Given the description of an element on the screen output the (x, y) to click on. 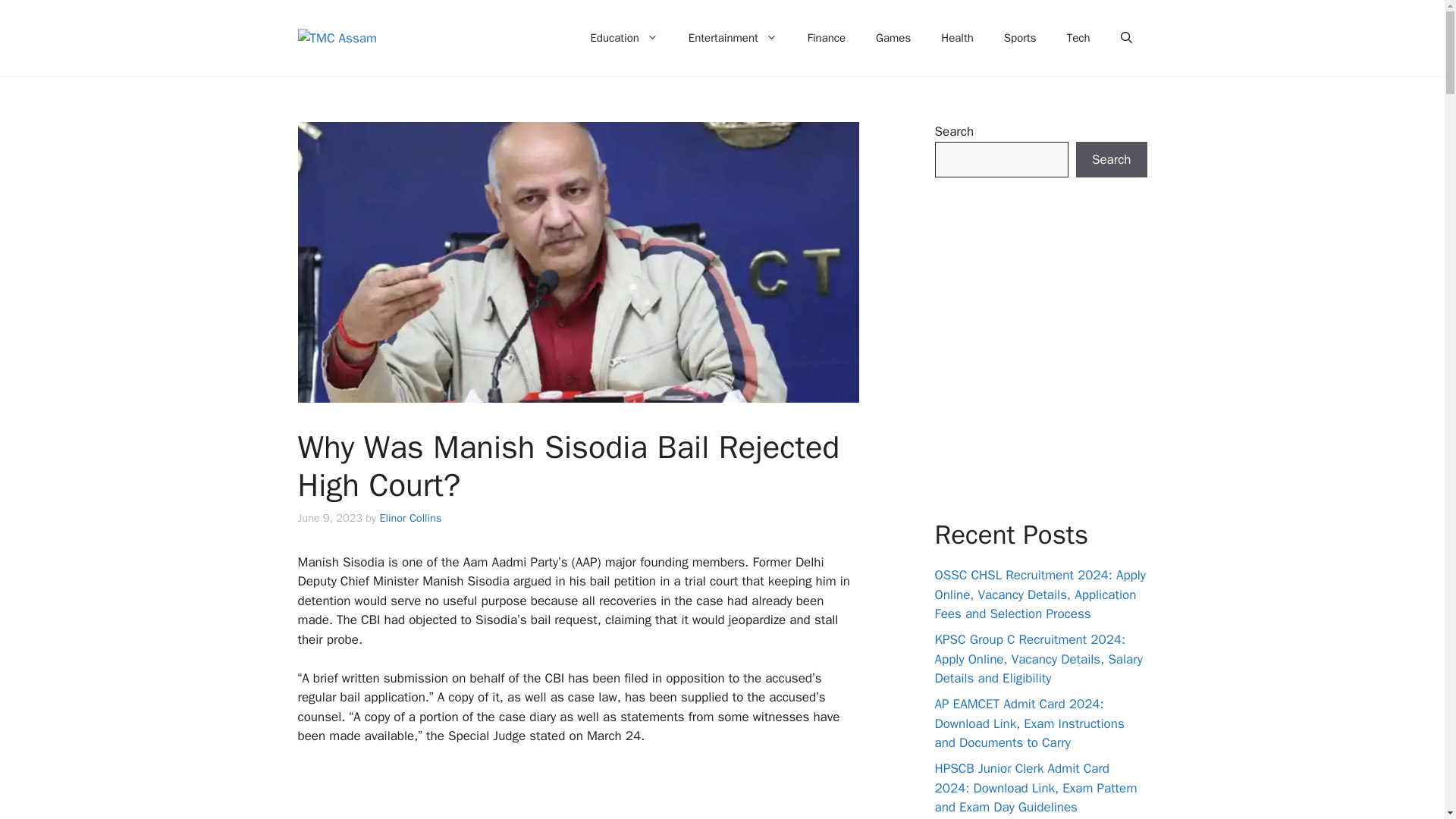
Elinor Collins (409, 517)
View all posts by Elinor Collins (409, 517)
Search (1111, 158)
Advertisement (620, 791)
Entertainment (732, 37)
Education (623, 37)
Tech (1078, 37)
Sports (1019, 37)
Health (957, 37)
Advertisement (1058, 348)
Finance (826, 37)
Games (893, 37)
